Given the description of an element on the screen output the (x, y) to click on. 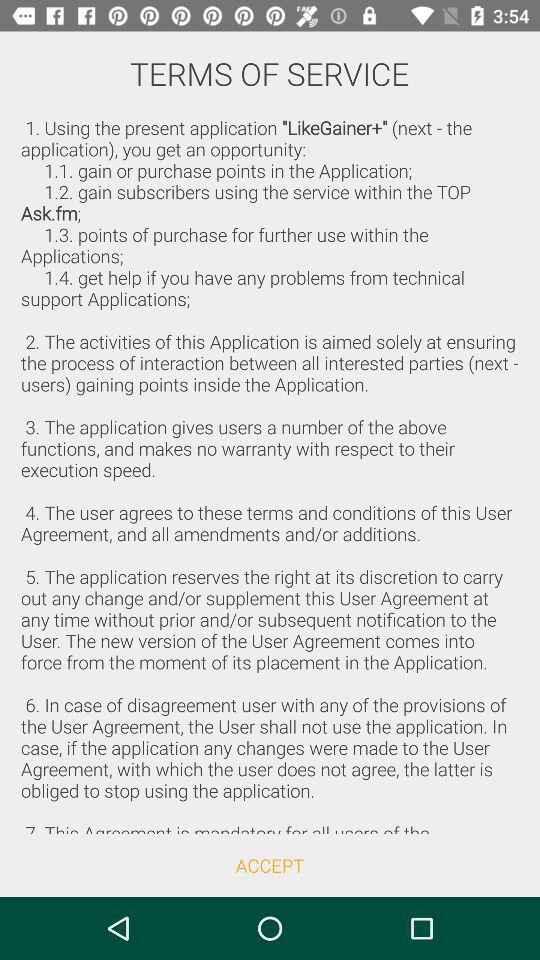
open the icon below the 1 using the (270, 864)
